Given the description of an element on the screen output the (x, y) to click on. 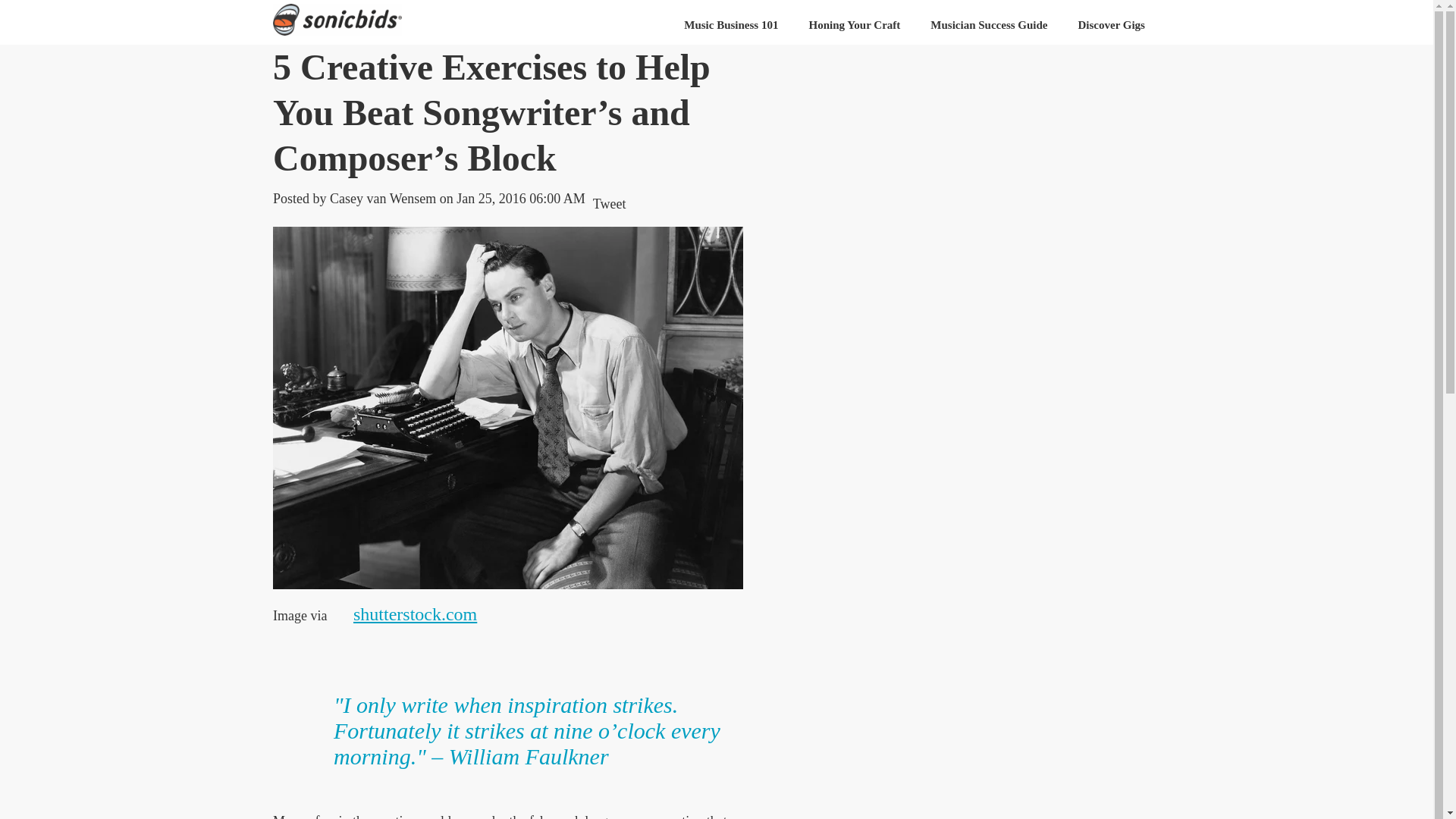
Tweet (609, 202)
Music Business 101 (730, 25)
shutterstock.com (414, 613)
Honing Your Craft (854, 25)
logo-sonicbids-horizontal-lockup2x (337, 20)
Discover Gigs (1111, 25)
Casey van Wensem (382, 198)
Musician Success Guide (988, 25)
